Given the description of an element on the screen output the (x, y) to click on. 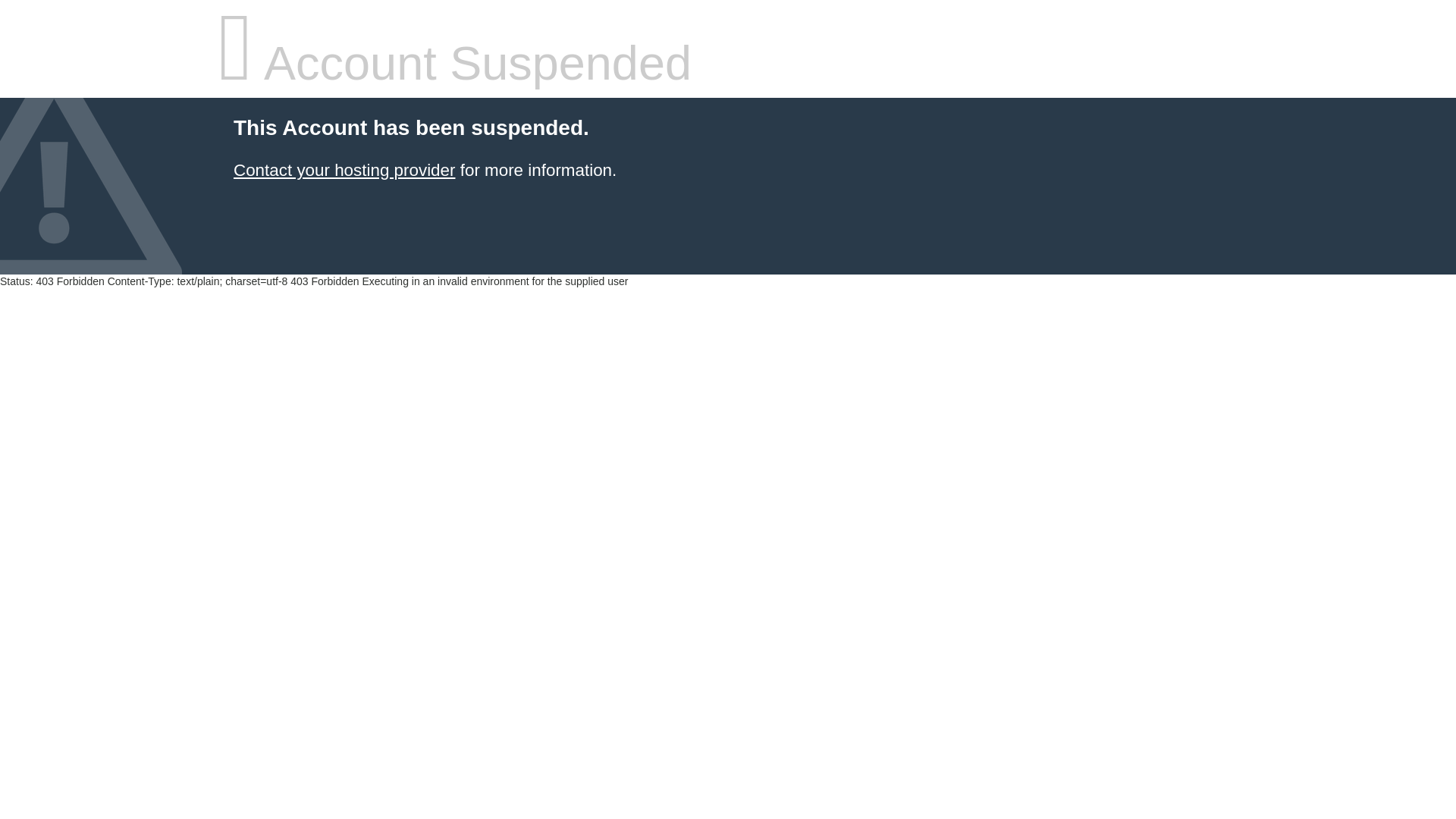
Contact your hosting provider (343, 169)
